Given the description of an element on the screen output the (x, y) to click on. 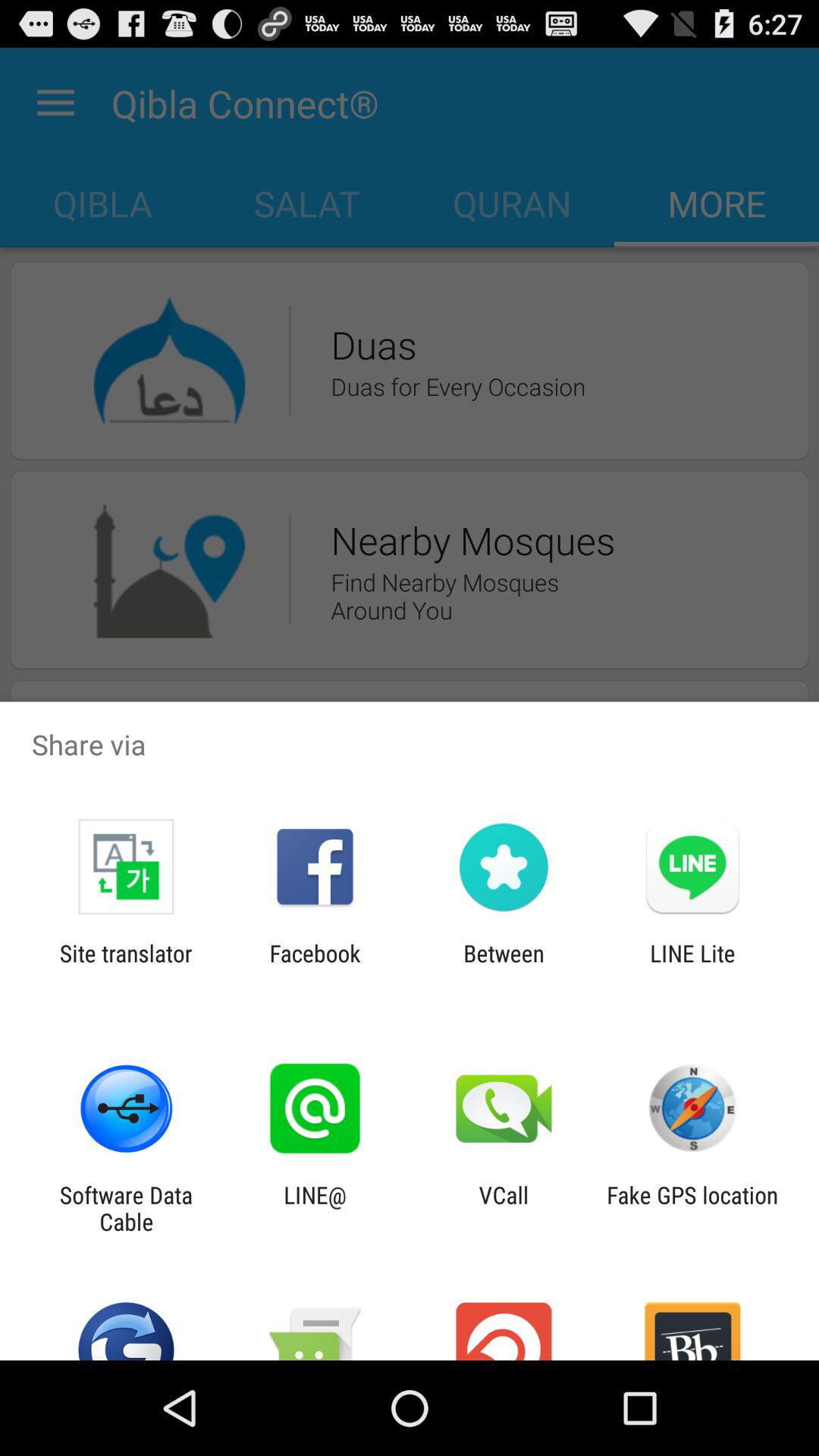
jump until the facebook (314, 966)
